Given the description of an element on the screen output the (x, y) to click on. 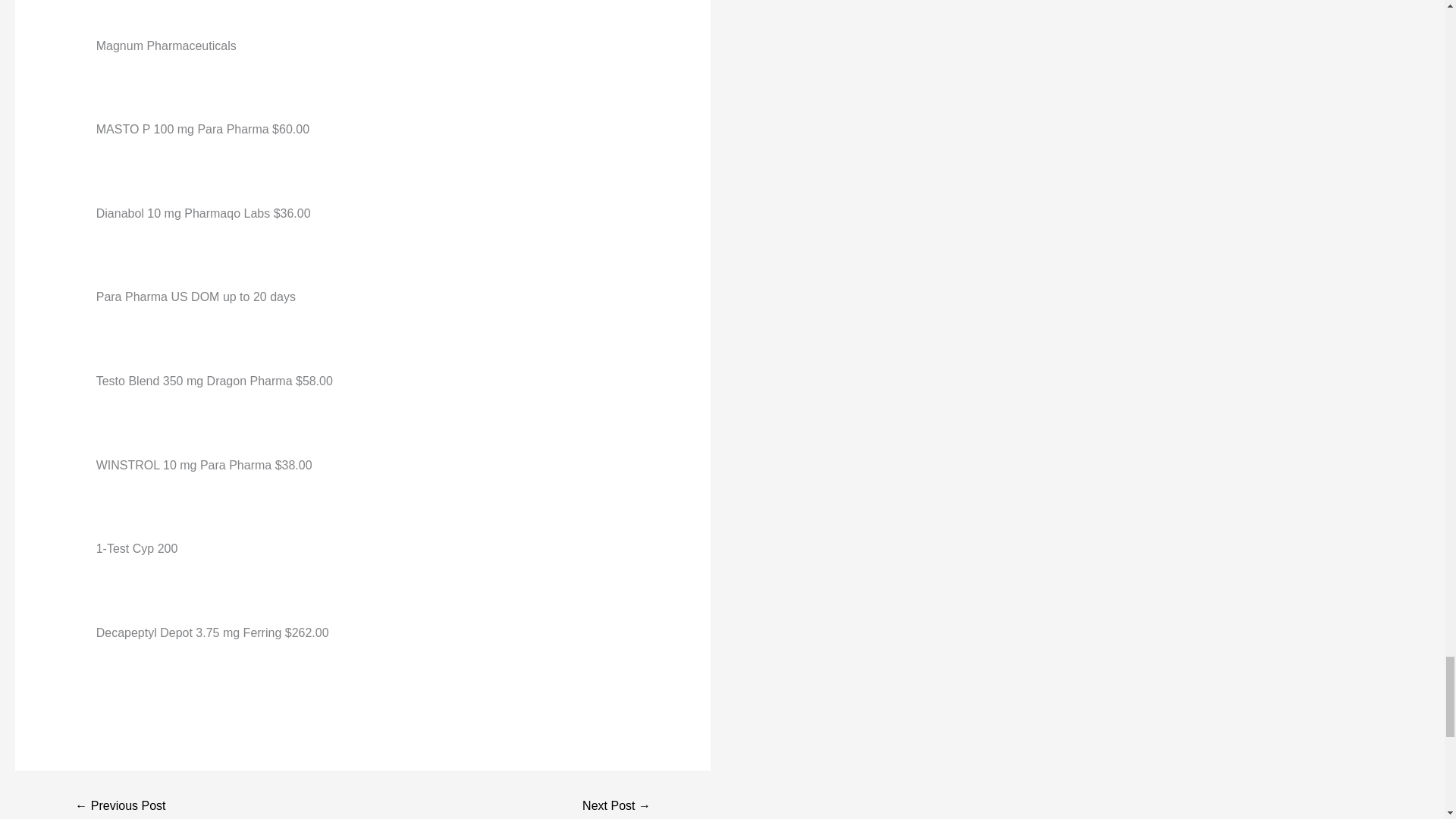
Clenbuterol for sale durban, prix clenbuterol (616, 806)
